Given the description of an element on the screen output the (x, y) to click on. 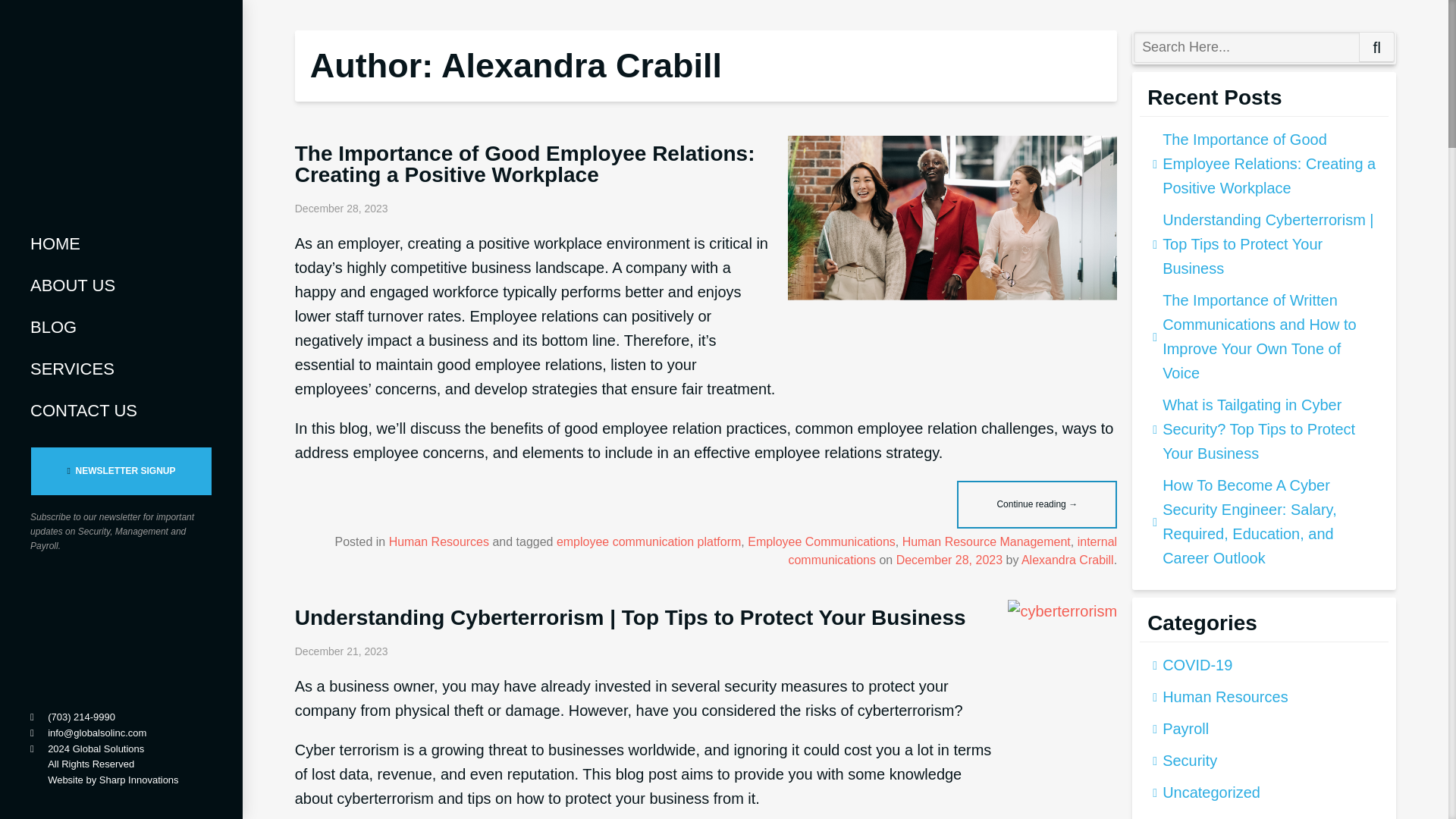
internal communications (951, 550)
View all posts by Alexandra Crabill (1067, 559)
ABOUT US (120, 285)
Human Resource Management (986, 541)
Employee Communications (821, 541)
December 28, 2023 (949, 559)
BLOG (120, 327)
HOME (120, 243)
SERVICES (120, 368)
  NEWSLETTER SIGNUP (120, 471)
Alexandra Crabill (1067, 559)
employee communication platform (648, 541)
Website by Sharp Innovations (112, 779)
Human Resources (438, 541)
